Given the description of an element on the screen output the (x, y) to click on. 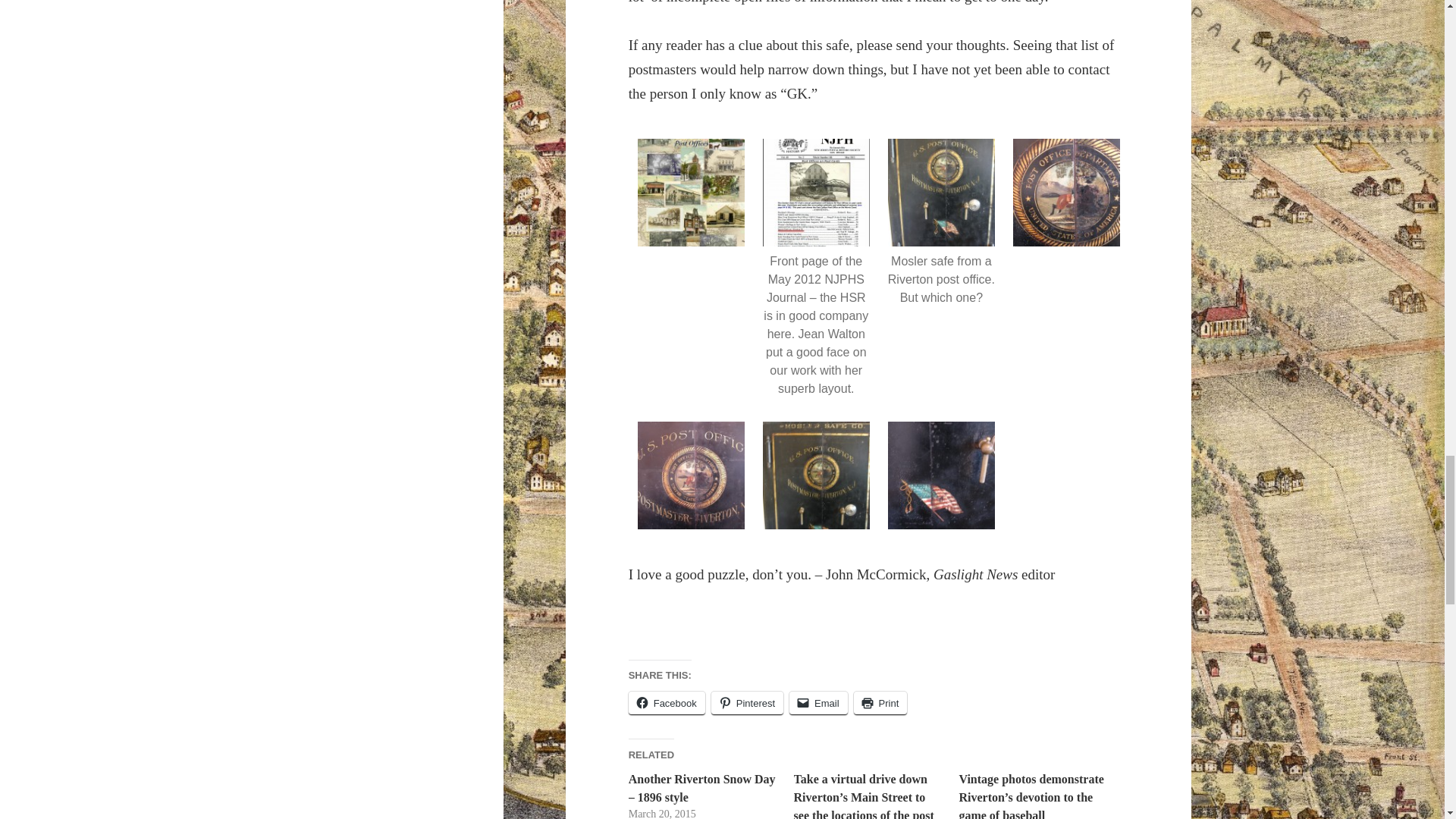
Click to email a link to a friend (818, 702)
Click to share on Pinterest (747, 702)
Click to print (880, 702)
Click to share on Facebook (666, 702)
